Given the description of an element on the screen output the (x, y) to click on. 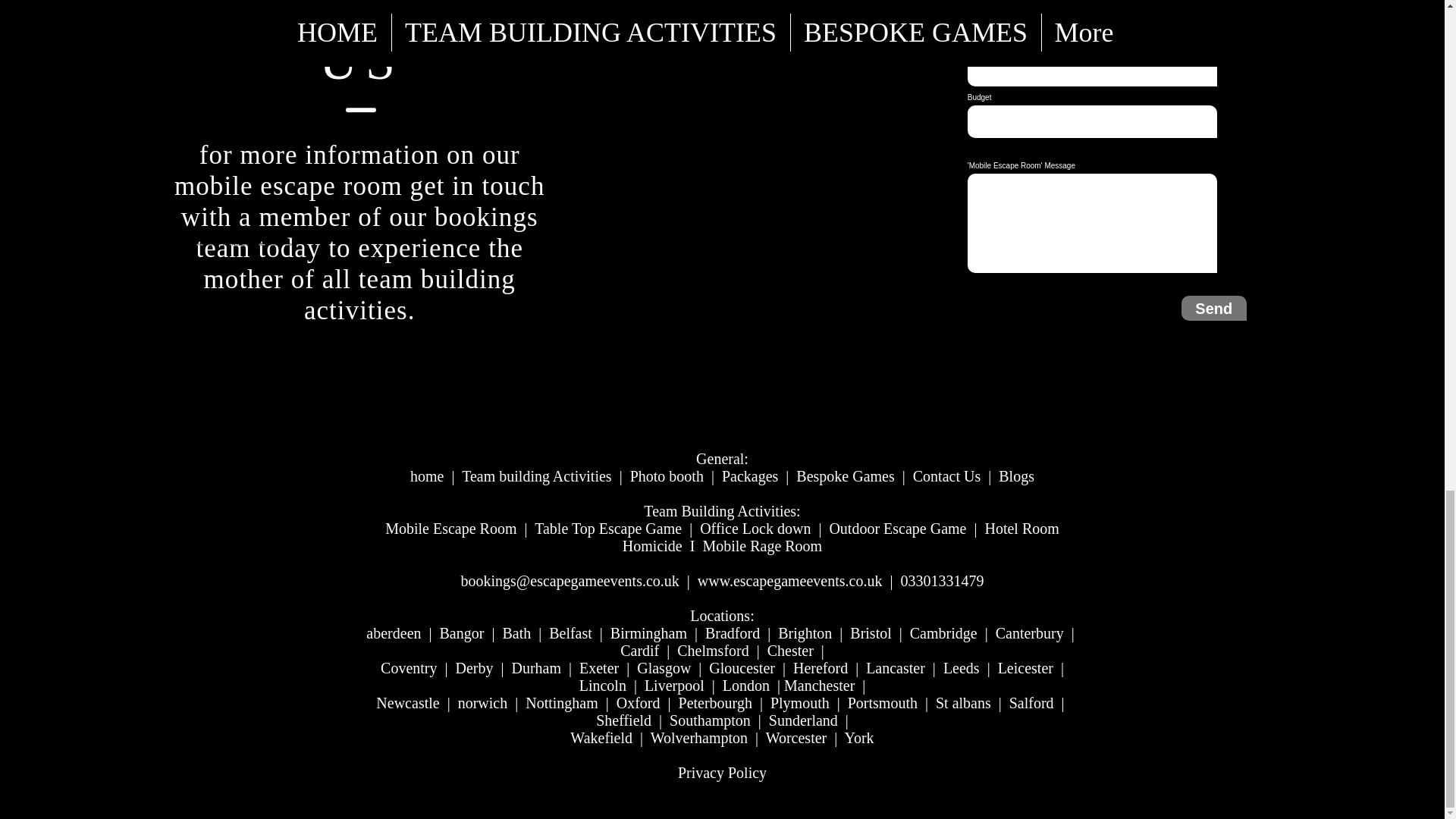
Hotel Room Homicide (841, 537)
Mobile Escape Room (450, 528)
Office Lock down (755, 528)
Contact Us (945, 475)
mobile escape room (288, 185)
Photo booth (666, 475)
Outdoor Escape Game (897, 528)
Send (1213, 308)
Table Top Escape Game (607, 528)
team building activities (409, 294)
Team building Activities (536, 475)
Bespoke Games (844, 475)
Packages (749, 475)
home (427, 475)
Blogs (1015, 475)
